Given the description of an element on the screen output the (x, y) to click on. 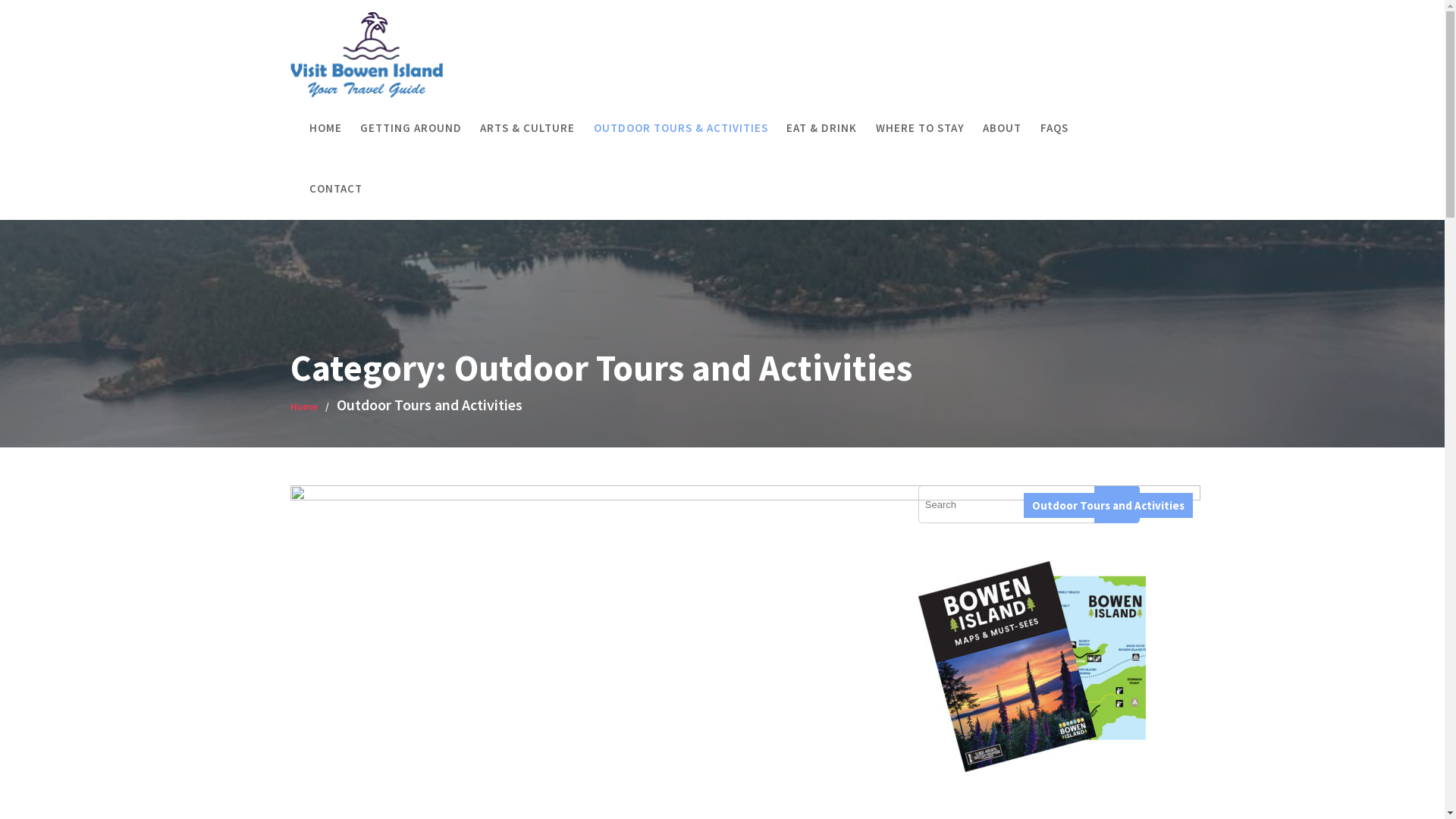
OUTDOOR TOURS & ACTIVITIES Element type: text (680, 127)
GETTING AROUND Element type: text (410, 127)
Outdoor Tours and Activities Element type: text (1107, 504)
Home Element type: text (302, 406)
WHERE TO STAY Element type: text (920, 127)
ARTS & CULTURE Element type: text (527, 127)
FAQS Element type: text (1054, 127)
CONTACT Element type: text (335, 188)
HOME Element type: text (325, 127)
EAT & DRINK Element type: text (821, 127)
ABOUT Element type: text (1002, 127)
